Given the description of an element on the screen output the (x, y) to click on. 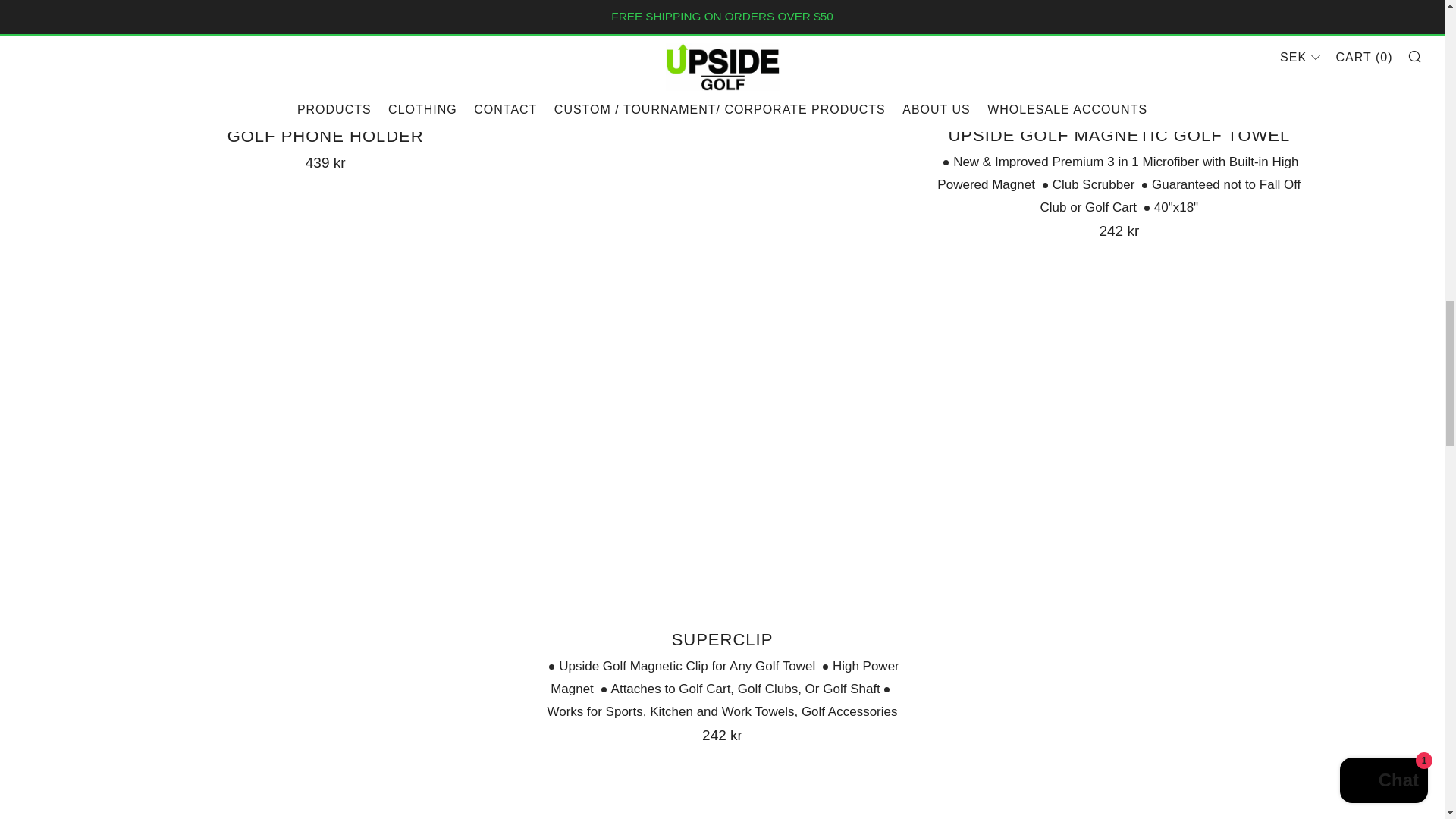
Upside Golf Magnetic Selfie Record Golf Phone Holder (325, 129)
Upside Golf Thunderstick (721, 106)
